Given the description of an element on the screen output the (x, y) to click on. 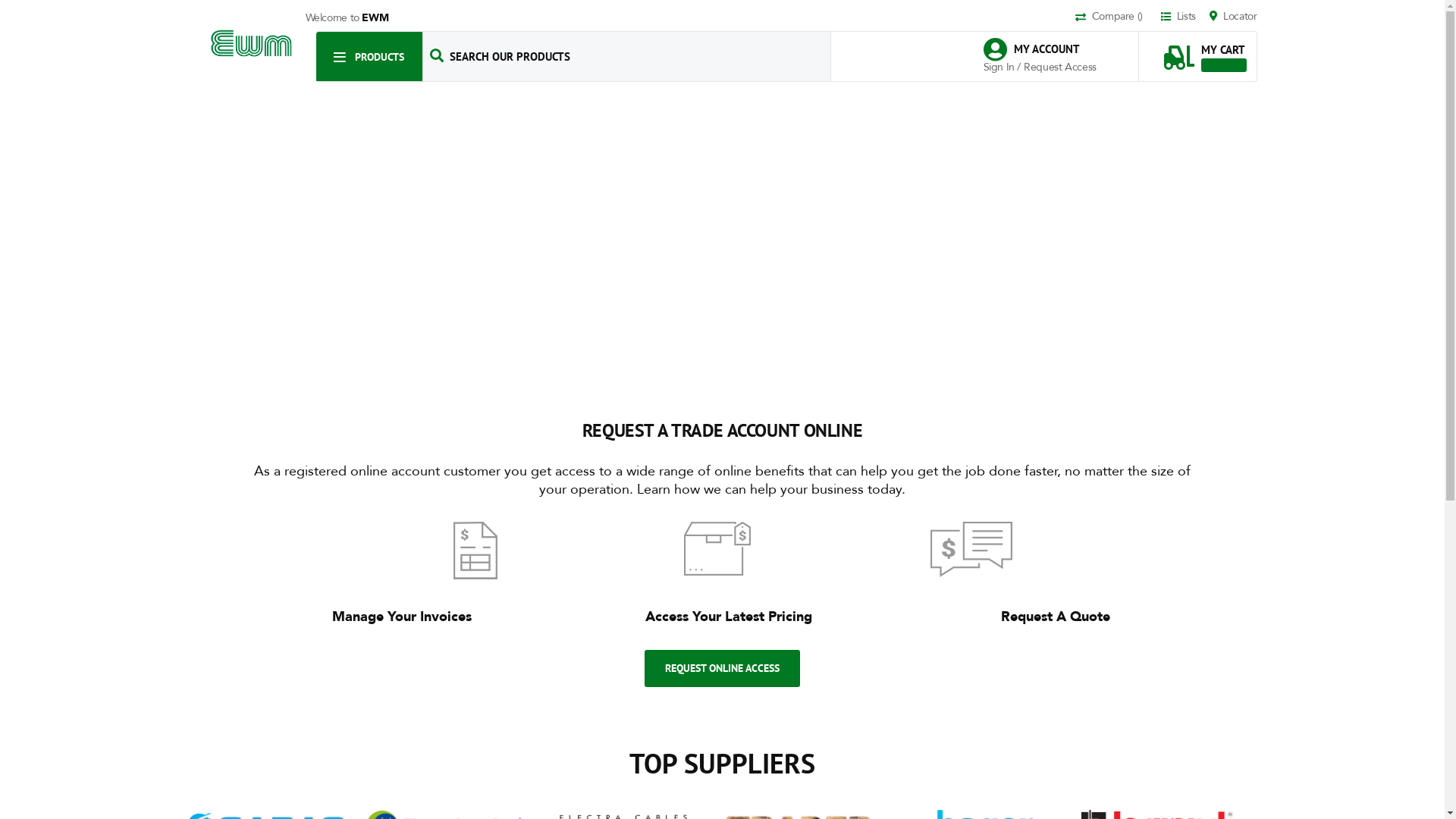
Request Access Element type: text (1059, 66)
Search Element type: text (436, 55)
Locator Element type: text (1233, 16)
REQUEST ONLINE ACCESS Element type: text (722, 668)
EWM Electrical Element type: hover (251, 43)
EWM Electrical Element type: hover (252, 43)
Lists Element type: text (1183, 16)
Compare Element type: text (1116, 17)
MY ACCOUNT Element type: text (1038, 49)
MY CART Element type: text (1204, 50)
Sign In Element type: text (999, 66)
